Given the description of an element on the screen output the (x, y) to click on. 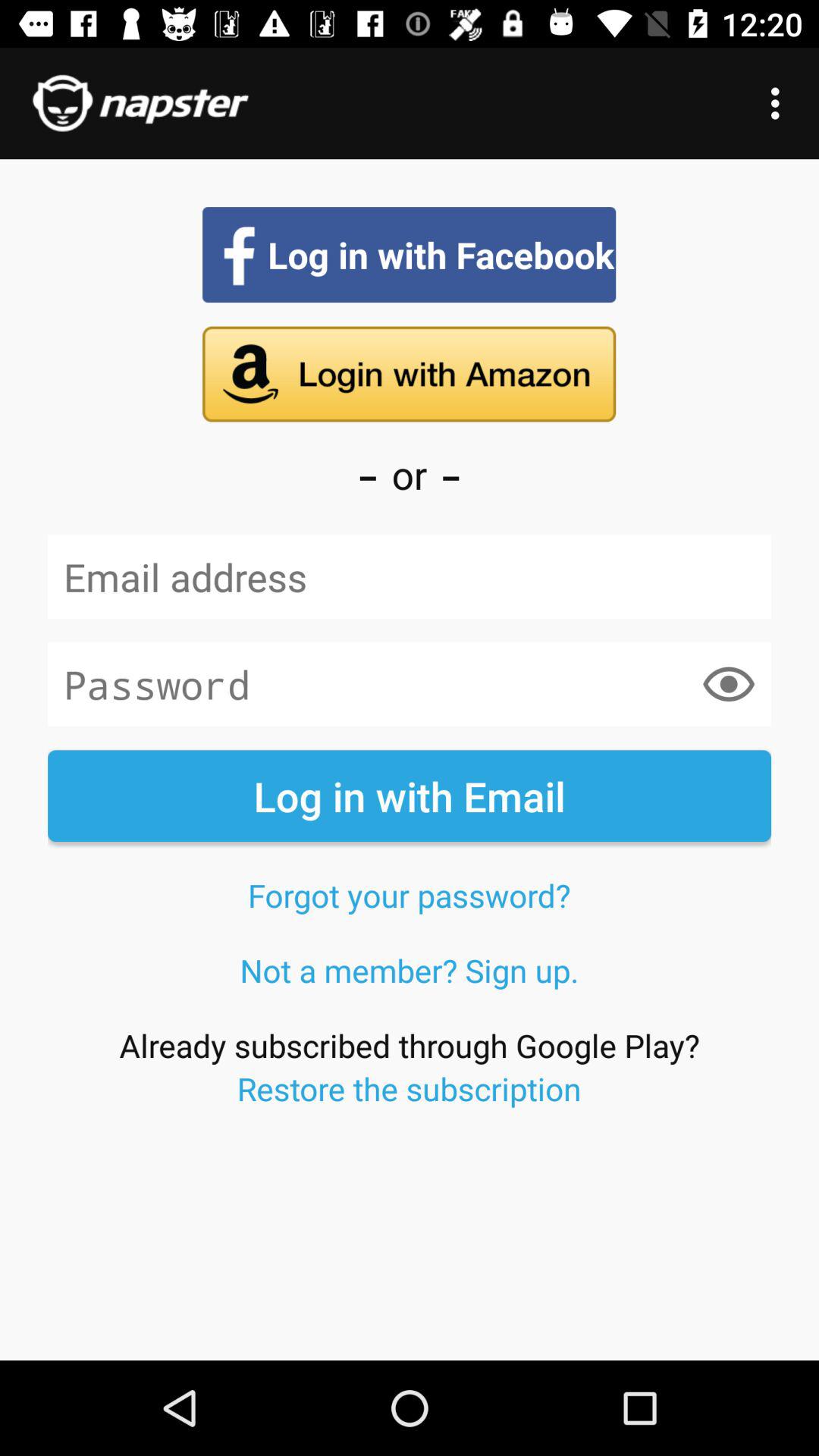
open item above the log in with (728, 684)
